Given the description of an element on the screen output the (x, y) to click on. 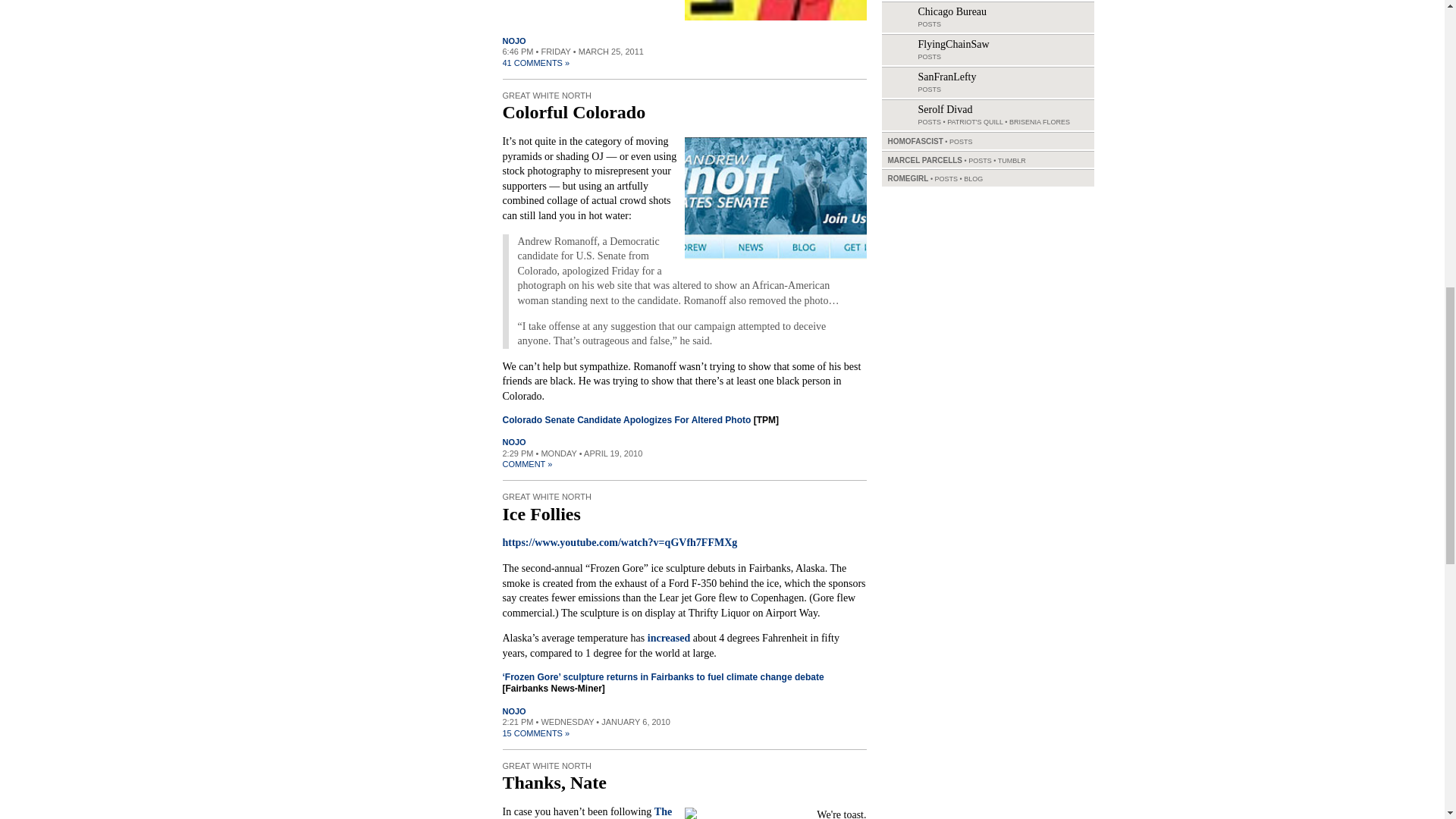
Ice Follies (540, 514)
We're toast. (775, 811)
Colorful Colorado (573, 112)
NOJO (513, 441)
NOJO (513, 40)
Well, two people, including Token. (775, 196)
GREAT WHITE NORTH (546, 765)
Colorado Senate Candidate Apologizes For Altered Photo (626, 419)
GREAT WHITE NORTH (546, 496)
Posts by nojo (513, 710)
